Given the description of an element on the screen output the (x, y) to click on. 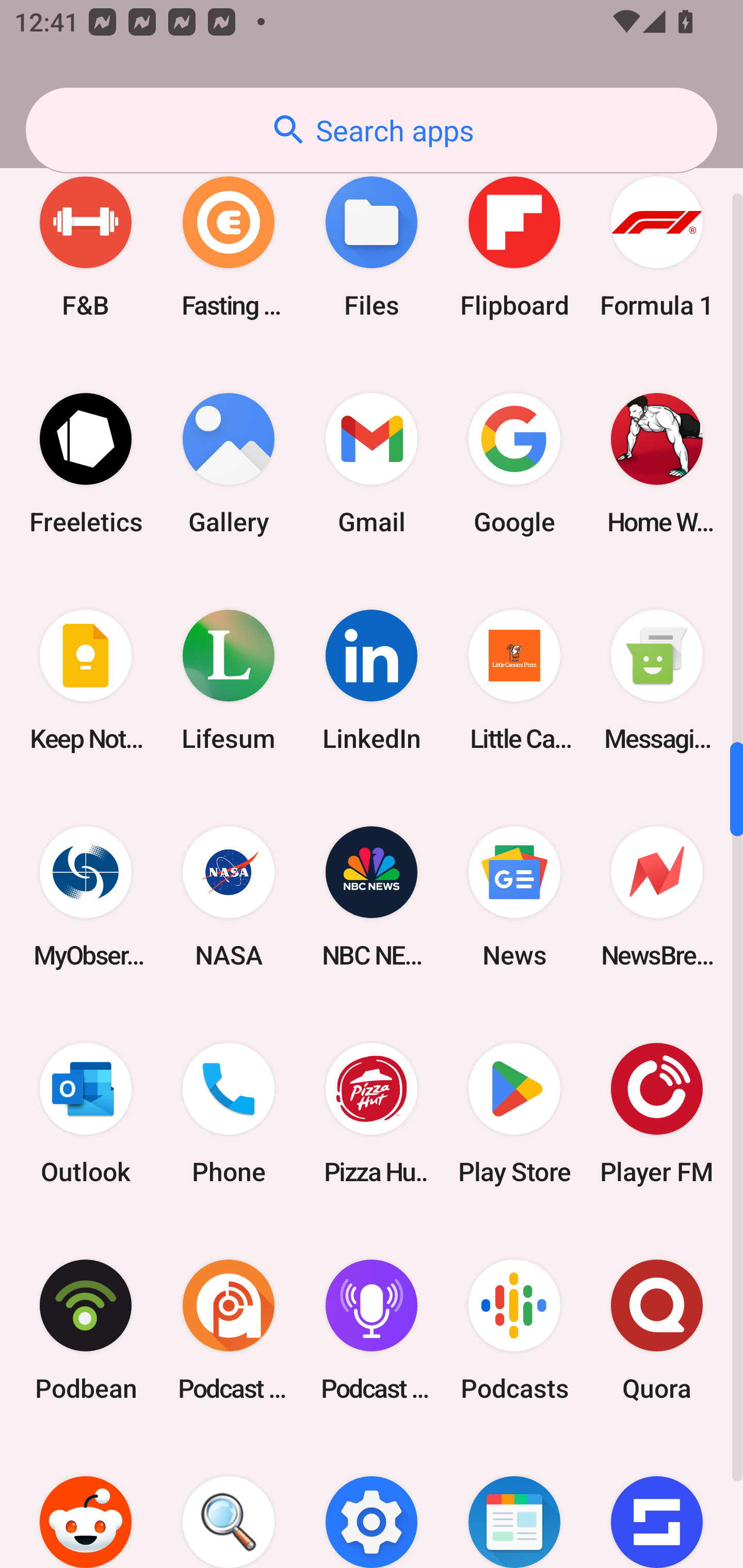
  Search apps (371, 130)
F&B (85, 246)
Fasting Coach (228, 246)
Files (371, 246)
Flipboard (514, 246)
Formula 1 (656, 246)
Freeletics (85, 463)
Gallery (228, 463)
Gmail (371, 463)
Google (514, 463)
Home Workout (656, 463)
Keep Notes (85, 680)
Lifesum (228, 680)
LinkedIn (371, 680)
Little Caesars Pizza (514, 680)
Messaging (656, 680)
MyObservatory (85, 896)
NASA (228, 896)
NBC NEWS (371, 896)
News (514, 896)
NewsBreak (656, 896)
Outlook (85, 1113)
Phone (228, 1113)
Pizza Hut HK & Macau (371, 1113)
Play Store (514, 1113)
Player FM (656, 1113)
Podbean (85, 1329)
Podcast Addict (228, 1329)
Podcast Player (371, 1329)
Podcasts (514, 1329)
Quora (656, 1329)
Reddit (85, 1502)
Search (228, 1502)
Settings (371, 1502)
SmartNews (514, 1502)
Sofascore (656, 1502)
